Given the description of an element on the screen output the (x, y) to click on. 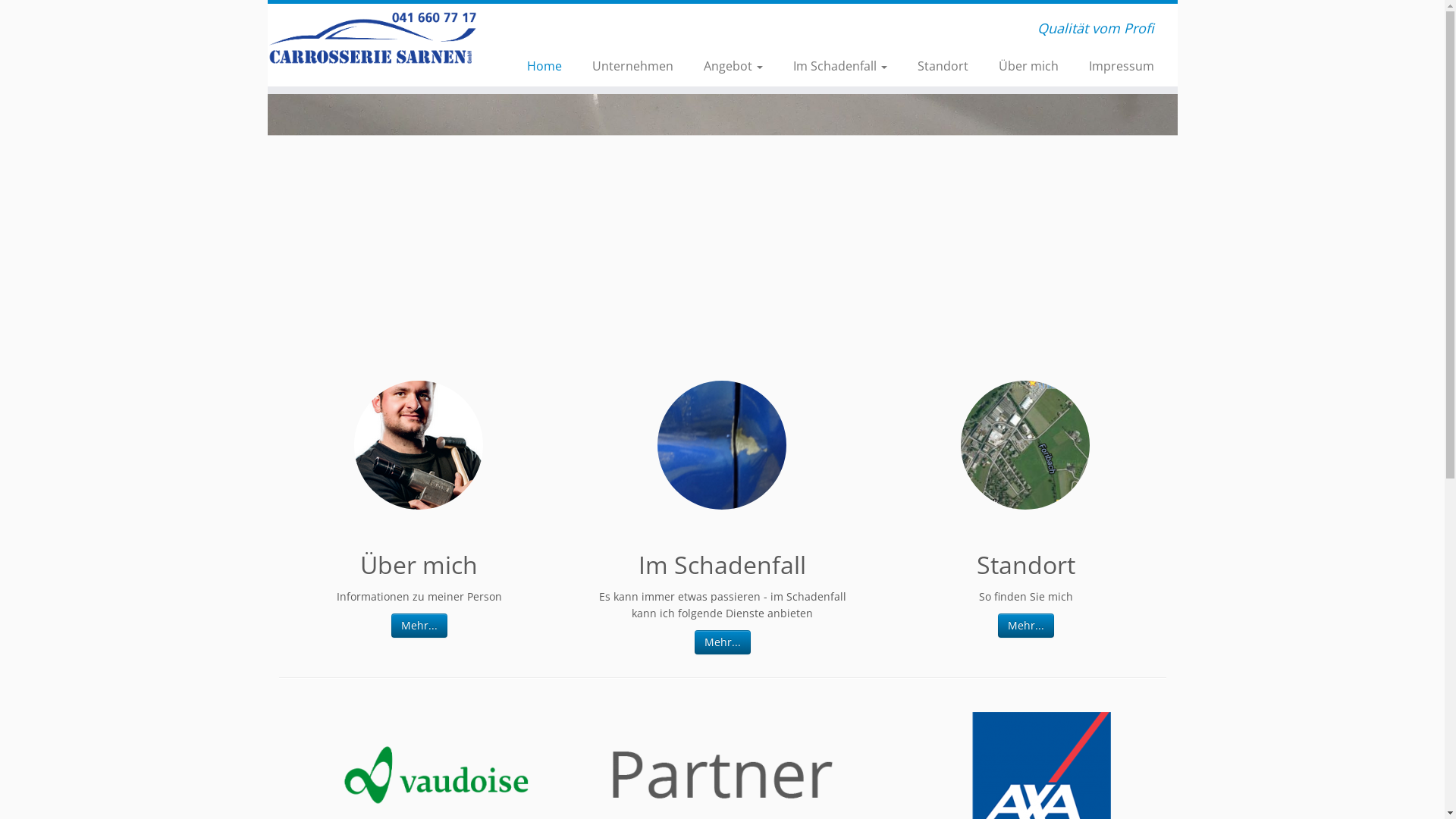
Impressum Element type: text (1113, 65)
Unternehmen Element type: text (632, 65)
Skip to content Element type: text (266, 93)
Mehr... Element type: text (1025, 625)
Angebot Element type: text (733, 65)
Im Schadenfall Element type: text (840, 65)
Standort Element type: text (942, 65)
Mehr... Element type: text (722, 642)
Mehr... Element type: text (419, 625)
Home Element type: text (544, 65)
